Given the description of an element on the screen output the (x, y) to click on. 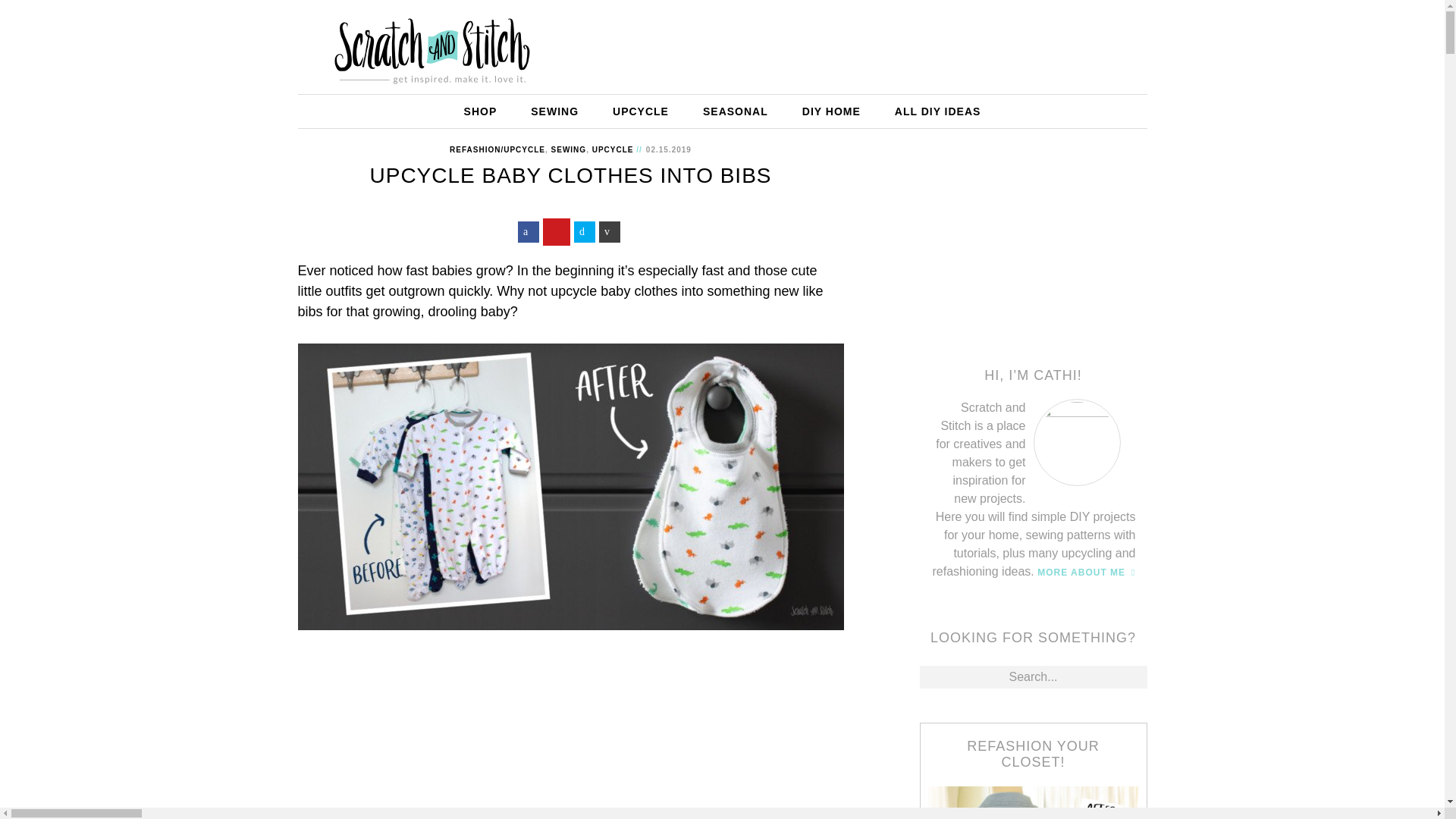
Scratch and Stitch (430, 41)
UPCYCLE (612, 149)
Share on Pinterest (556, 231)
ALL DIY IDEAS (937, 110)
DIY HOME (831, 110)
Share on Facebook (527, 231)
Share on Email (609, 231)
SHOP (480, 110)
